Given the description of an element on the screen output the (x, y) to click on. 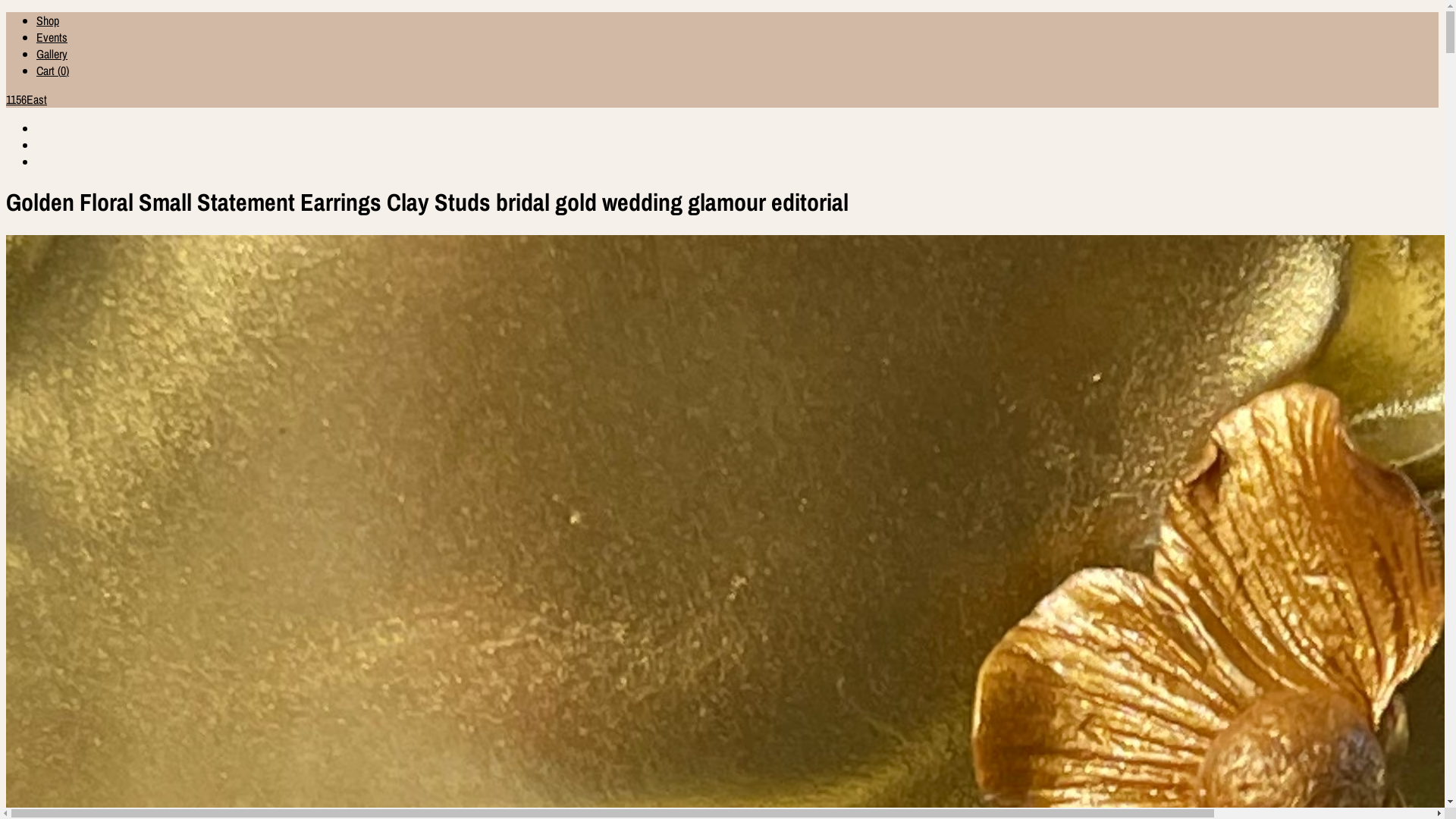
Shop Element type: text (47, 20)
Events Element type: text (51, 36)
Gallery Element type: text (51, 53)
1156East Element type: text (722, 99)
Cart (0) Element type: text (52, 70)
